Given the description of an element on the screen output the (x, y) to click on. 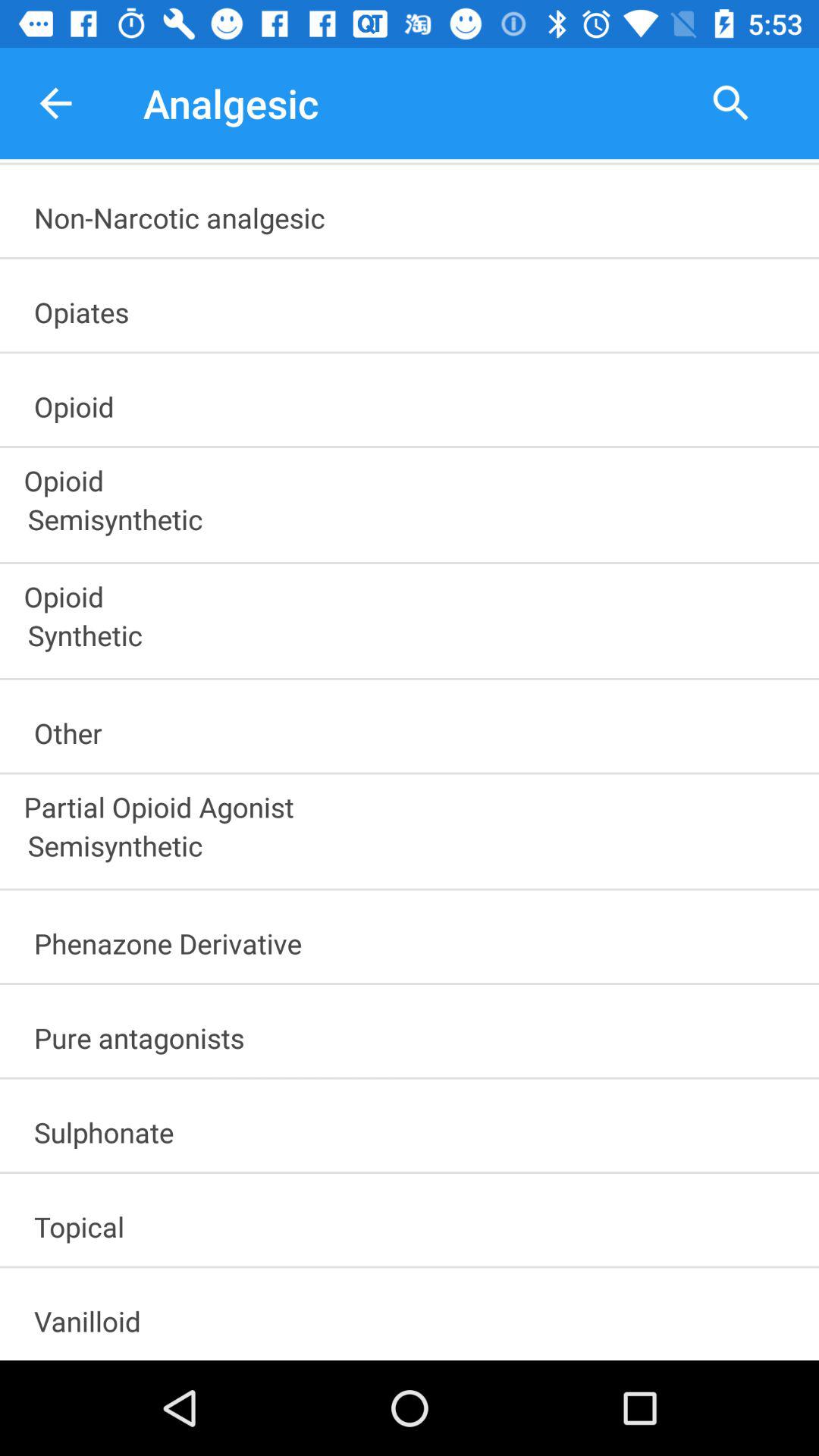
choose non-narcotic analgesic item (416, 212)
